Given the description of an element on the screen output the (x, y) to click on. 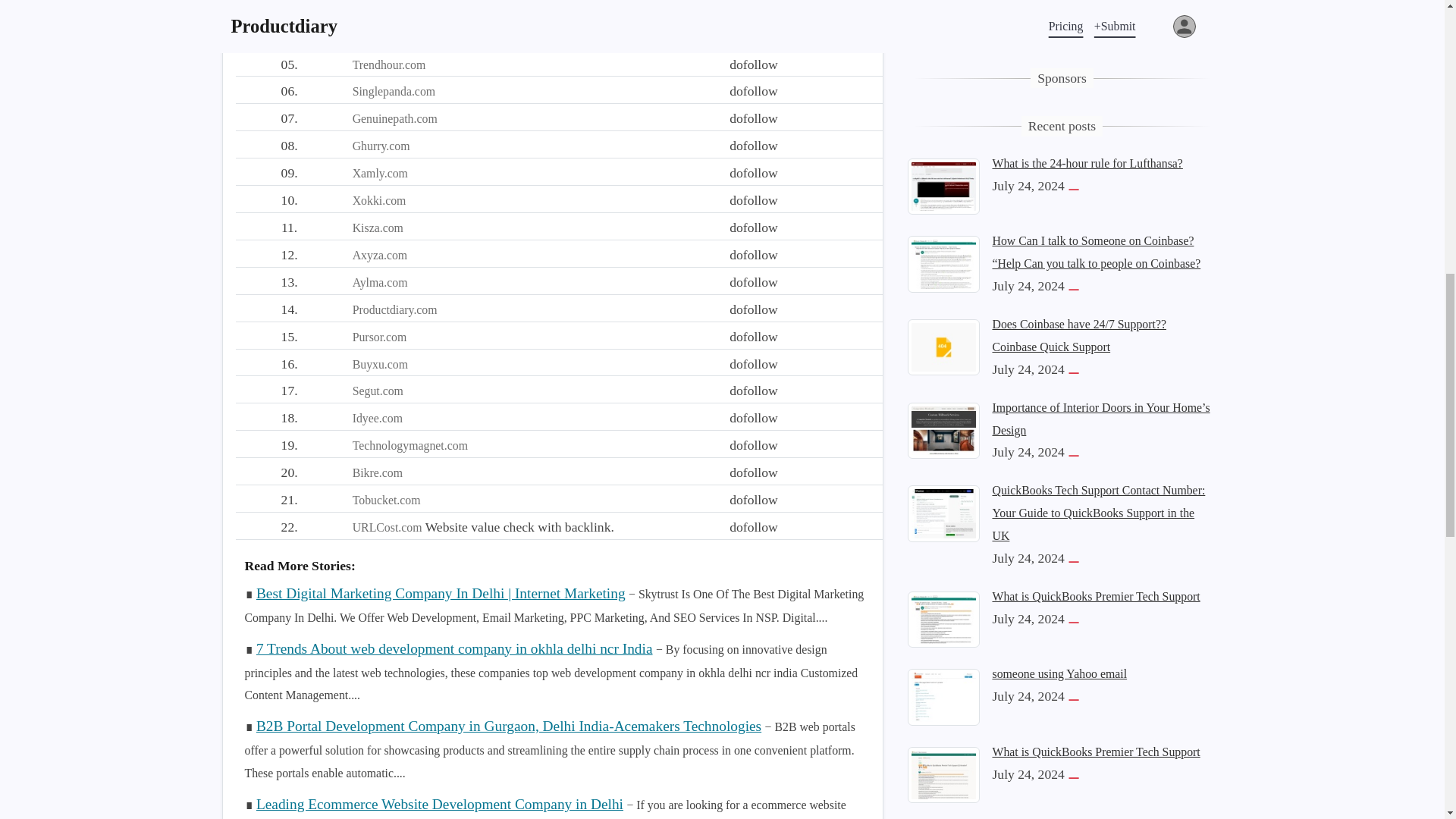
Singlepanda.com (393, 91)
Trendhour.com (389, 64)
Segut.com (377, 390)
Genuinepath.com (395, 118)
Pursor.com (379, 336)
Xamly.com (379, 173)
Ghurry.com (381, 145)
Xokki.com (379, 200)
Axyza.com (379, 254)
Aylma.com (379, 282)
Idyee.com (377, 418)
Productdiary.com (395, 309)
Kaancy.com (382, 10)
